Given the description of an element on the screen output the (x, y) to click on. 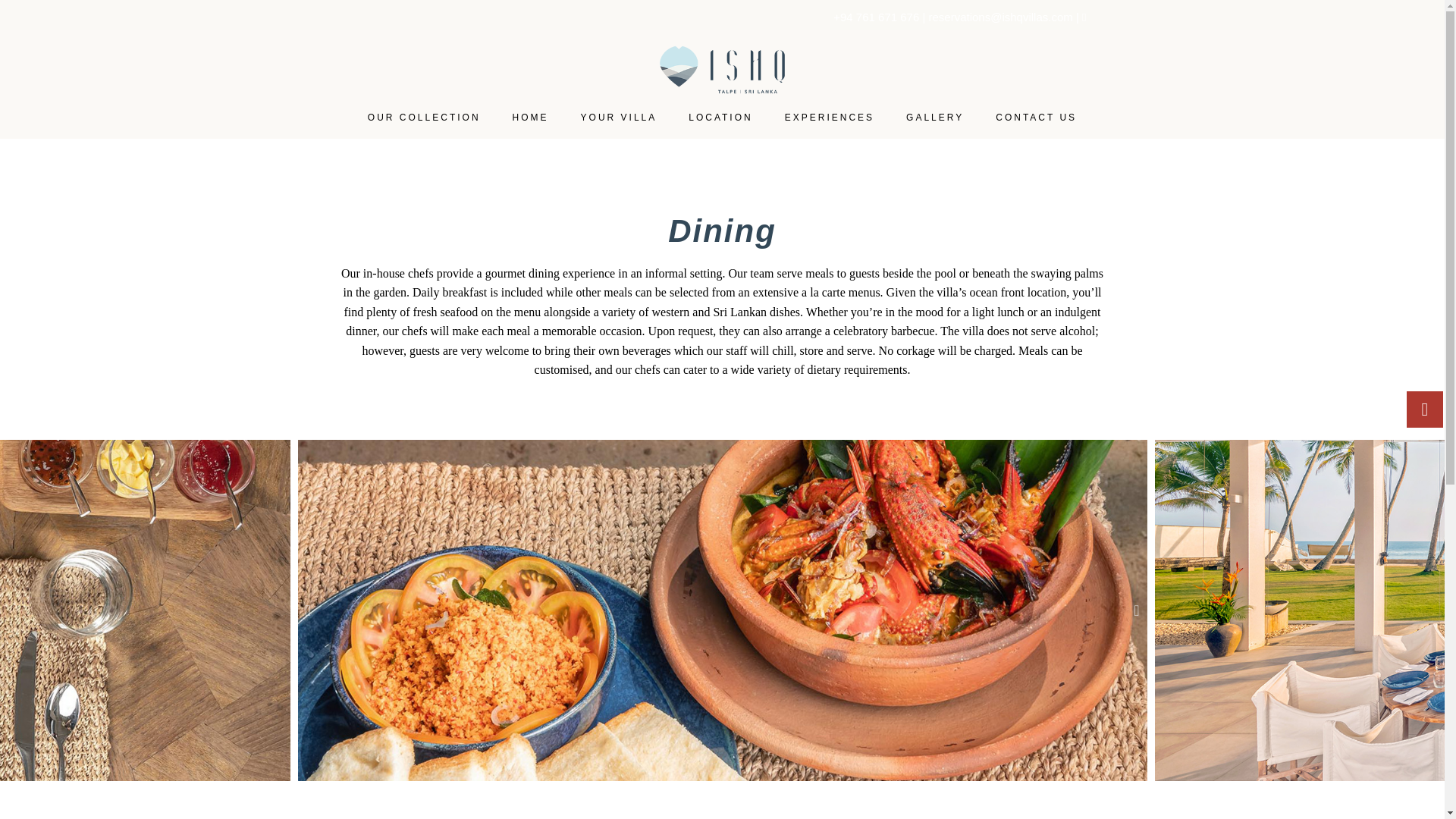
GALLERY (934, 117)
CONTACT US (1036, 117)
LOCATION (720, 117)
EXPERIENCES (829, 117)
YOUR VILLA (619, 117)
HOME (530, 117)
OUR COLLECTION (424, 117)
Ishq-Luxury-Villa-Thalpe-logo - Ishq Luxury Villas (722, 69)
